Given the description of an element on the screen output the (x, y) to click on. 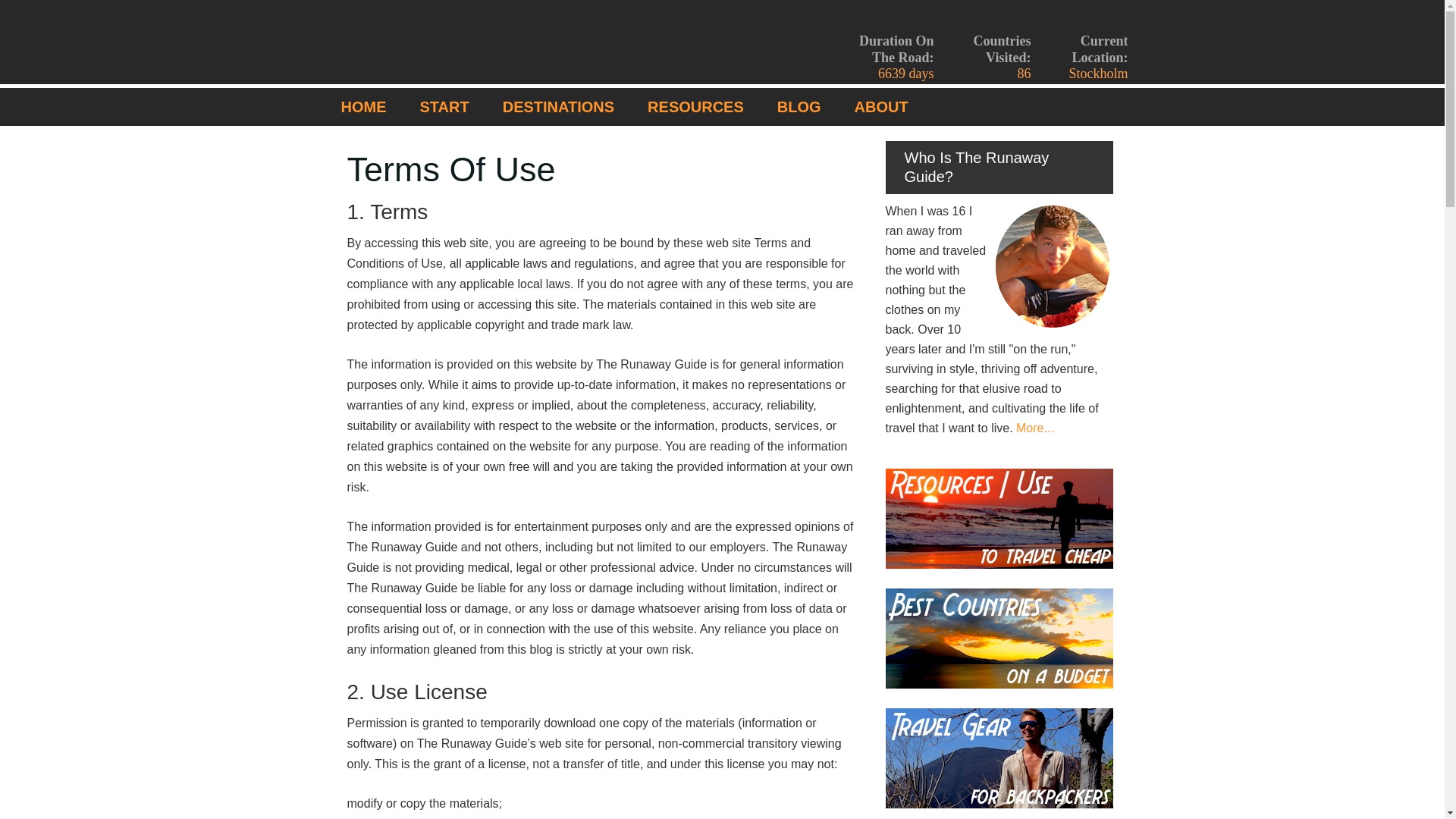
The Runaway Guide (442, 42)
More... (1035, 427)
BLOG (798, 106)
HOME (363, 106)
START (444, 106)
RESOURCES (695, 106)
DESTINATIONS (558, 106)
ABOUT (881, 106)
